Given the description of an element on the screen output the (x, y) to click on. 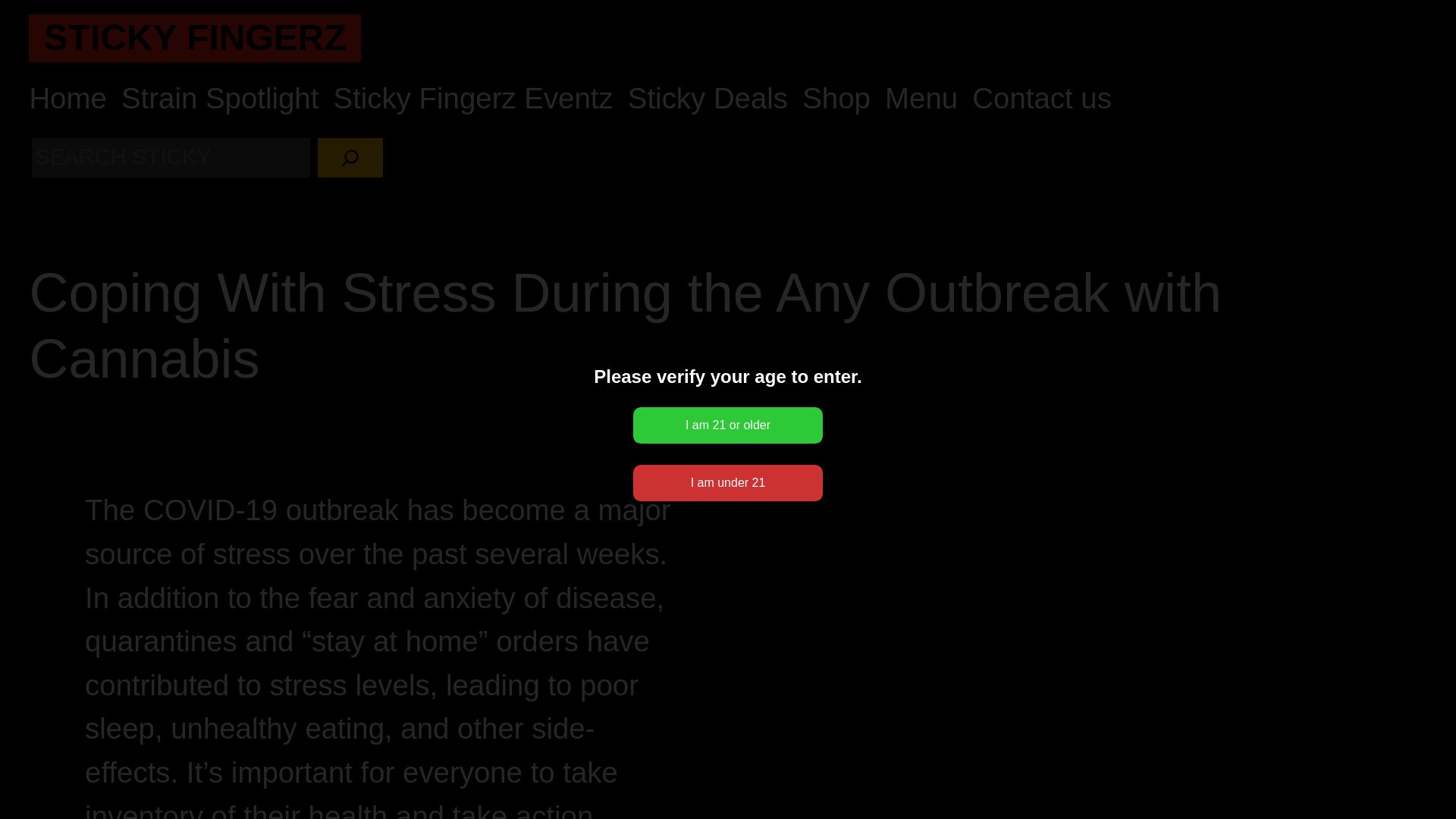
I am under 21 (727, 483)
Menu (921, 98)
STICKY FINGERZ (194, 37)
Home (67, 98)
Sticky Deals (707, 98)
I am 21 or older (727, 425)
Strain Spotlight (219, 98)
Shop (836, 98)
Sticky Fingerz Eventz (472, 98)
Contact us (1042, 98)
